Given the description of an element on the screen output the (x, y) to click on. 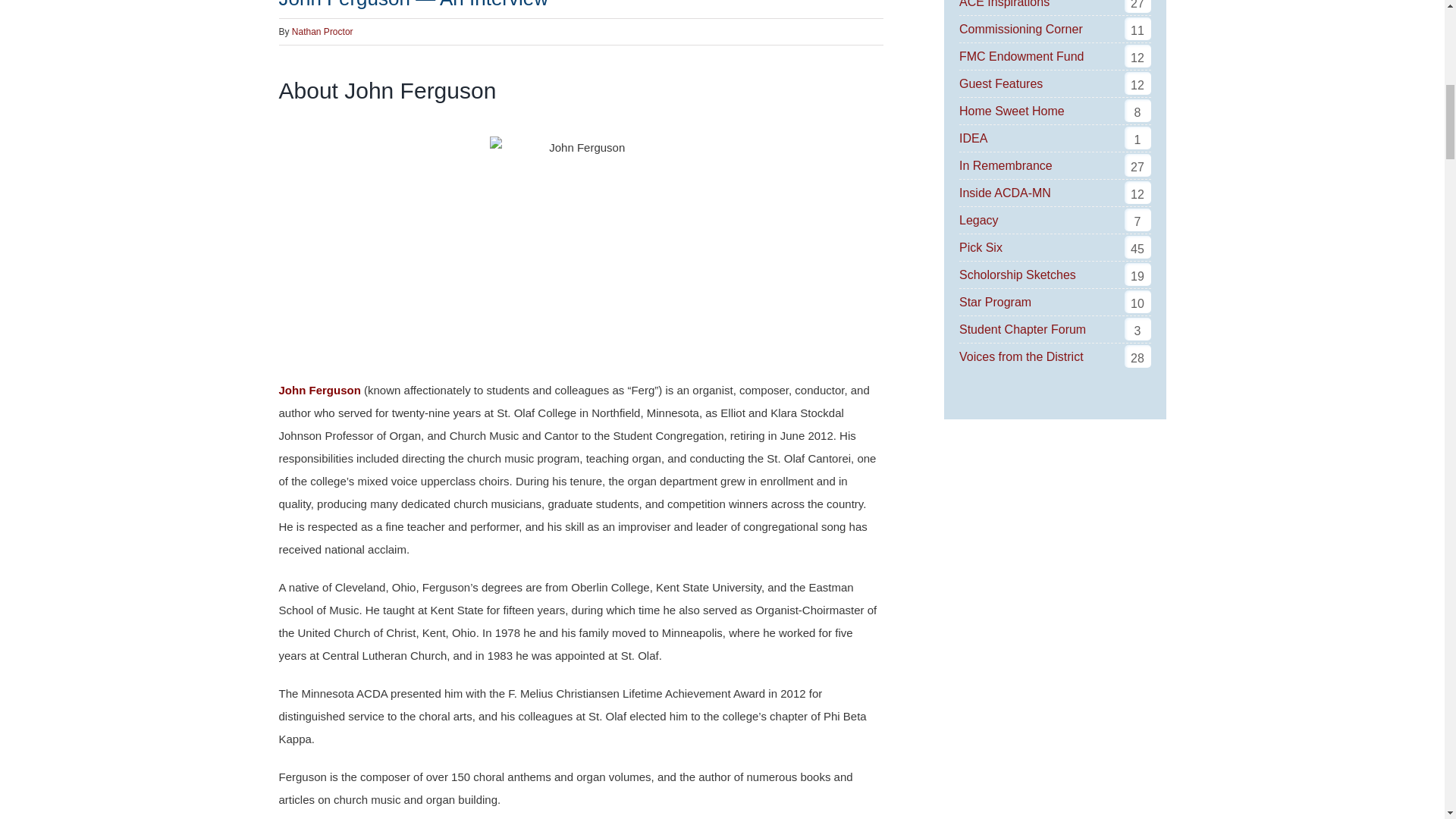
Posts by Nathan Proctor (322, 31)
